Given the description of an element on the screen output the (x, y) to click on. 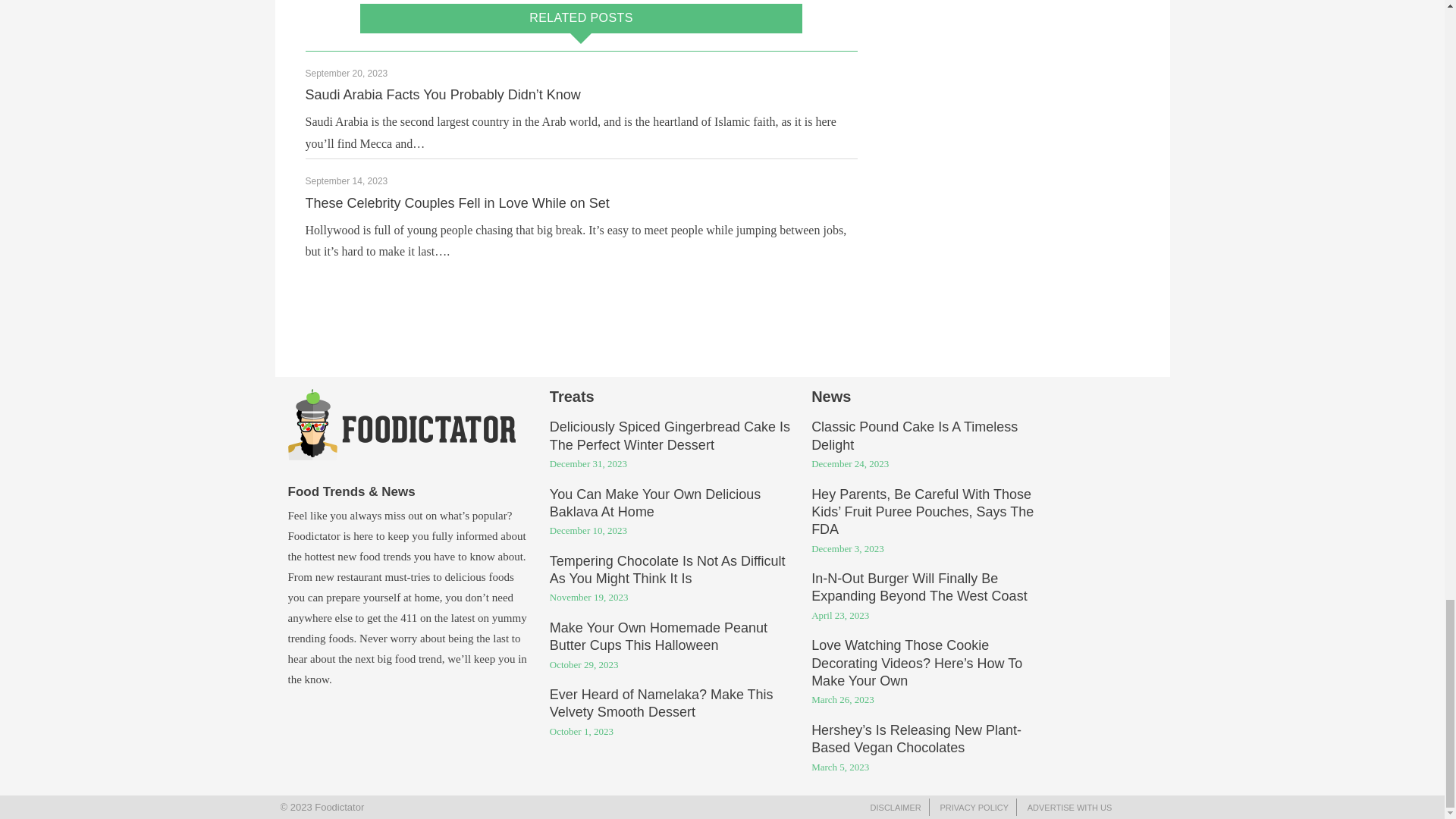
DISCLAIMER (895, 807)
ADVERTISE WITH US (1069, 807)
You Can Make Your Own Delicious Baklava At Home (655, 503)
PRIVACY POLICY (974, 807)
Classic Pound Cake Is A Timeless Delight (913, 436)
Ever Heard of Namelaka? Make This Velvety Smooth Dessert (661, 704)
These Celebrity Couples Fell in Love While on Set (456, 202)
